Given the description of an element on the screen output the (x, y) to click on. 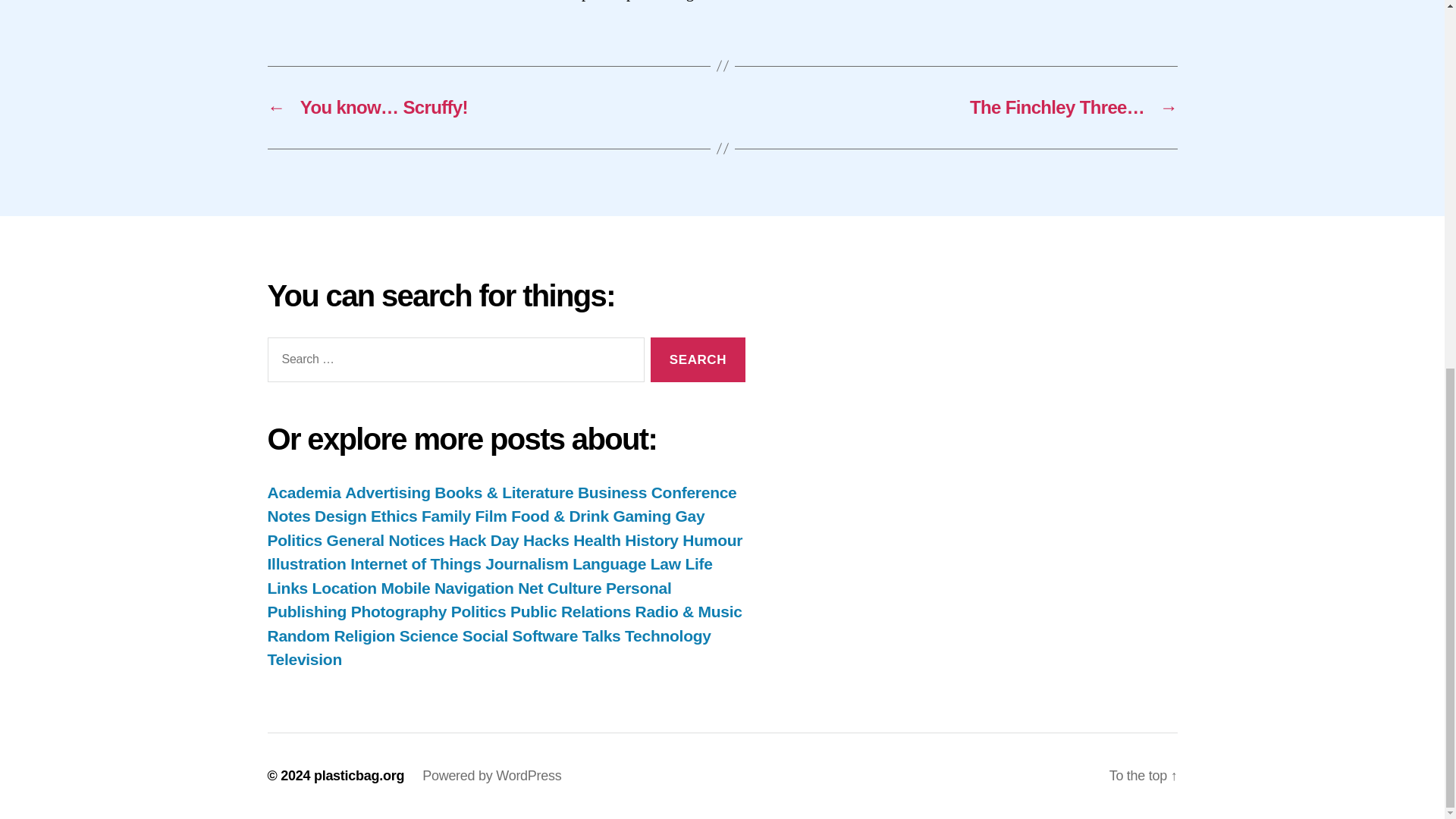
General Notices (385, 539)
Ethics (393, 515)
Life (697, 563)
Law (665, 563)
Hack Day (483, 539)
Advertising (387, 492)
Language (609, 563)
Academia (303, 492)
Hacks (545, 539)
Internet of Things (415, 563)
